Given the description of an element on the screen output the (x, y) to click on. 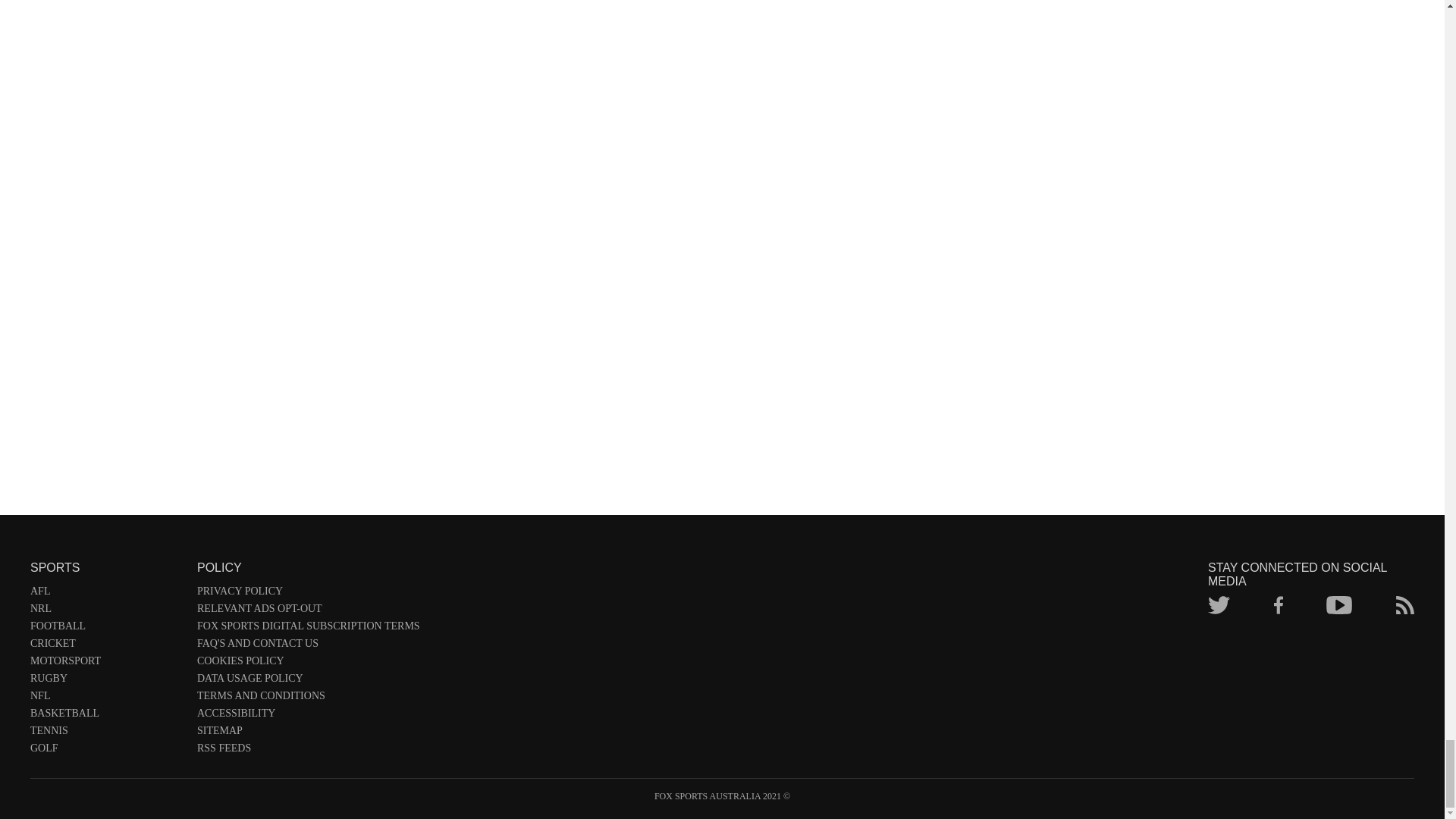
PRIVACY POLICY (308, 593)
COOKIES POLICY (308, 663)
FAQ'S AND CONTACT US (308, 645)
CRICKET (106, 645)
DATA USAGE POLICY (308, 680)
RUGBY (106, 680)
NRL (106, 610)
NFL (106, 698)
RSS FEEDS (308, 750)
TERMS AND CONDITIONS (308, 698)
FOX SPORTS DIGITAL SUBSCRIPTION TERMS (308, 628)
FOOTBALL (106, 628)
RELEVANT ADS OPT-OUT (308, 610)
AFL (106, 593)
SITEMAP (308, 733)
